Given the description of an element on the screen output the (x, y) to click on. 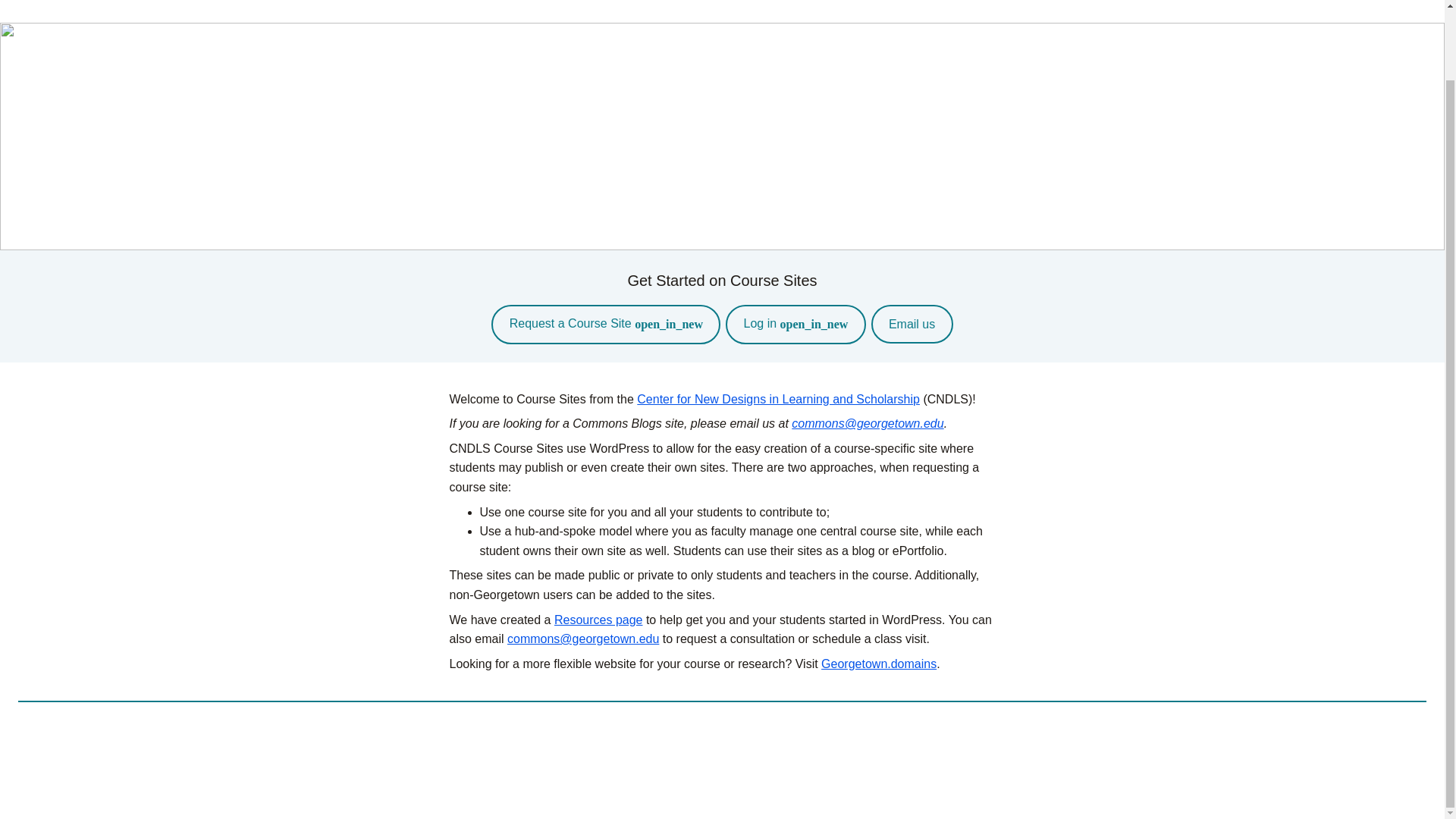
Resources (1379, 8)
Email us (911, 323)
Home (1297, 8)
Resources page (598, 619)
Center for New Designs in Learning and Scholarship (778, 399)
Georgetown.domains (878, 663)
